Given the description of an element on the screen output the (x, y) to click on. 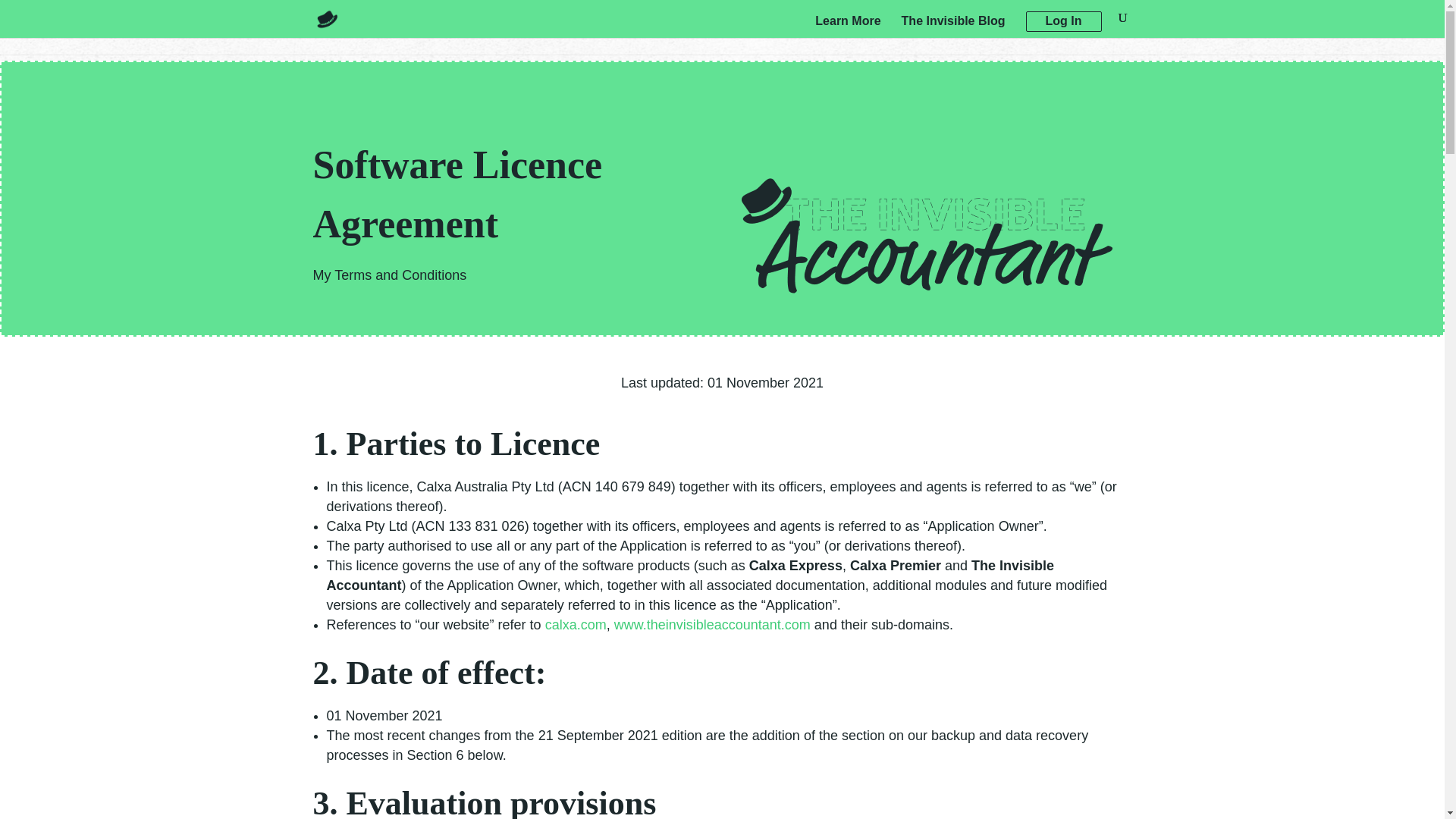
Log In (1062, 21)
calxa.com (575, 624)
Learn More (847, 26)
The Invisible Blog (953, 26)
www.theinvisibleaccountant.com (712, 624)
